Given the description of an element on the screen output the (x, y) to click on. 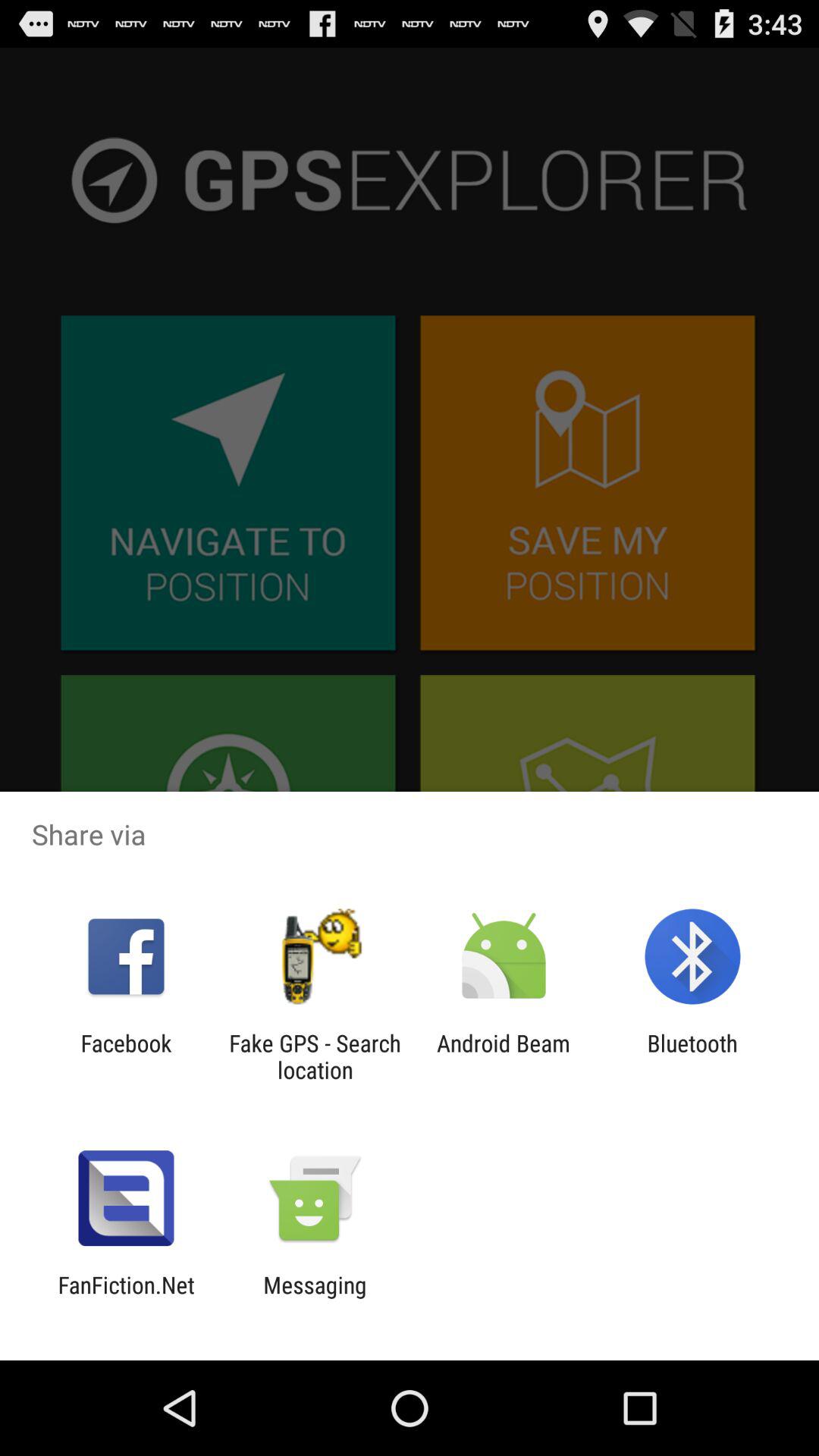
turn on the bluetooth at the bottom right corner (692, 1056)
